Given the description of an element on the screen output the (x, y) to click on. 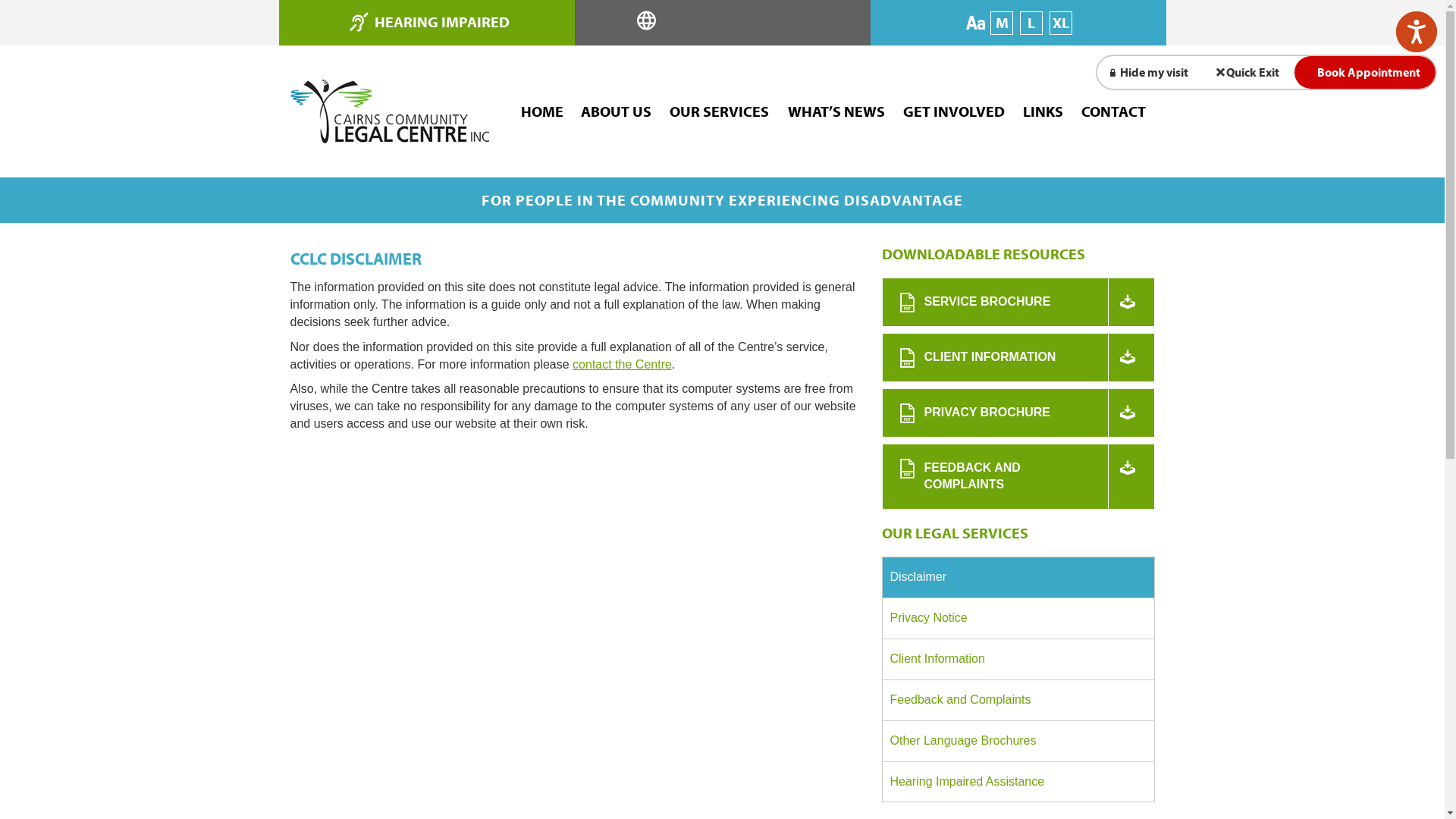
Client Information Element type: text (1018, 659)
Quick Exit Element type: text (1248, 72)
CONTACT Element type: text (1113, 112)
Disclaimer Element type: text (1018, 577)
L Element type: text (1030, 22)
PRIVACY BROCHURE Element type: text (1017, 412)
FEEDBACK AND COMPLAINTS Element type: text (1017, 476)
Feedback and Complaints Element type: text (1018, 700)
Privacy Notice Element type: text (1018, 618)
Hide my visit Element type: text (1149, 72)
ABOUT US Element type: text (615, 112)
Other Language Brochures Element type: text (1018, 741)
OUR SERVICES Element type: text (719, 112)
GET INVOLVED Element type: text (953, 112)
Listen with the ReachDeck Toolbar Element type: hover (1416, 31)
LINKS Element type: text (1043, 112)
XL Element type: text (1060, 22)
M Element type: text (1001, 22)
Hearing Impaired Assistance Element type: text (1018, 782)
HOME Element type: text (541, 112)
Book Appointment Element type: text (1364, 72)
HEARING IMPAIRED Element type: text (441, 21)
CLIENT INFORMATION Element type: text (1017, 357)
SERVICE BROCHURE Element type: text (1017, 301)
contact the Centre Element type: text (621, 363)
